Given the description of an element on the screen output the (x, y) to click on. 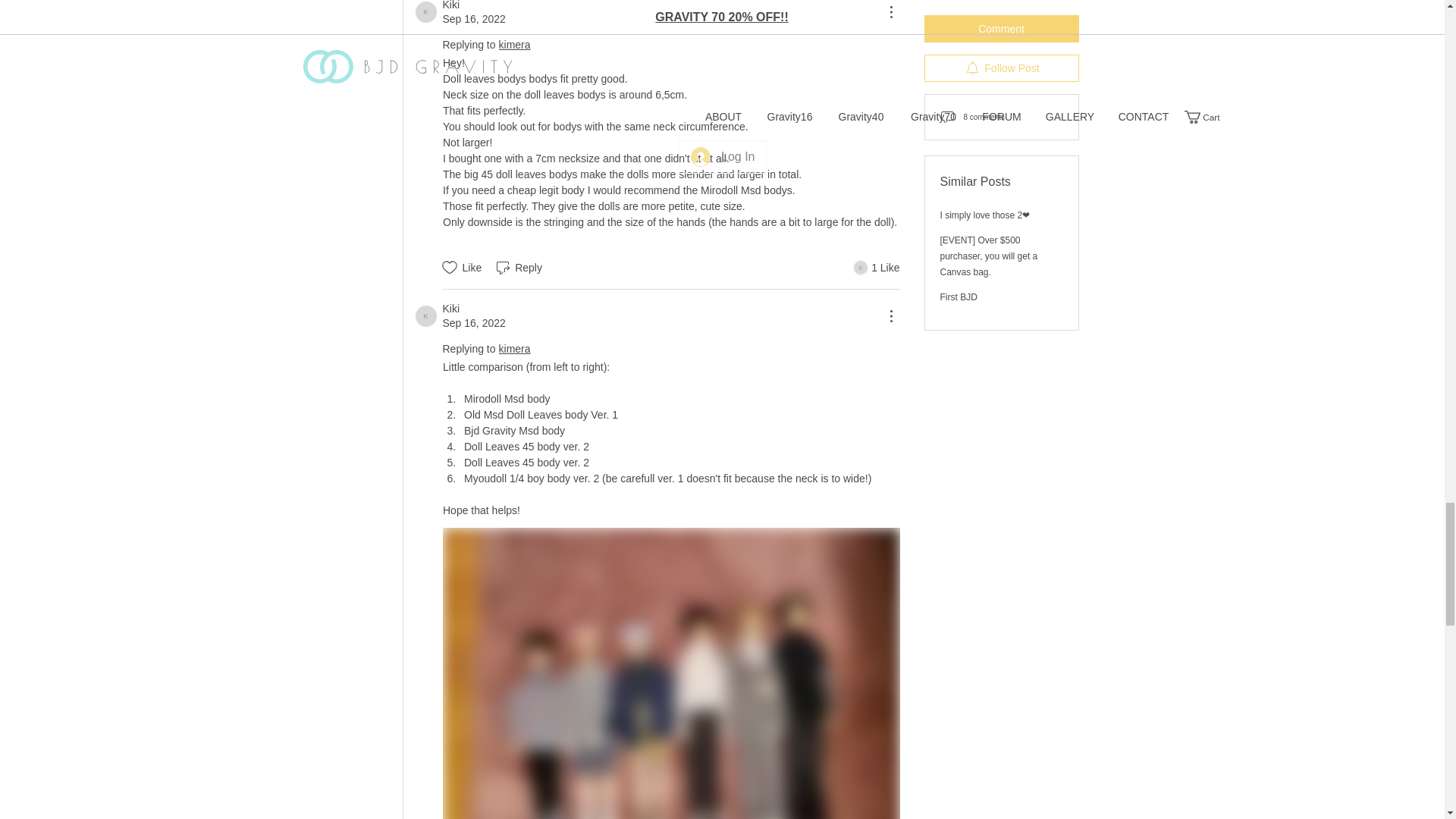
Kiki (451, 6)
Kiki (425, 315)
Kiki (425, 11)
kimera (860, 267)
K (425, 11)
